Given the description of an element on the screen output the (x, y) to click on. 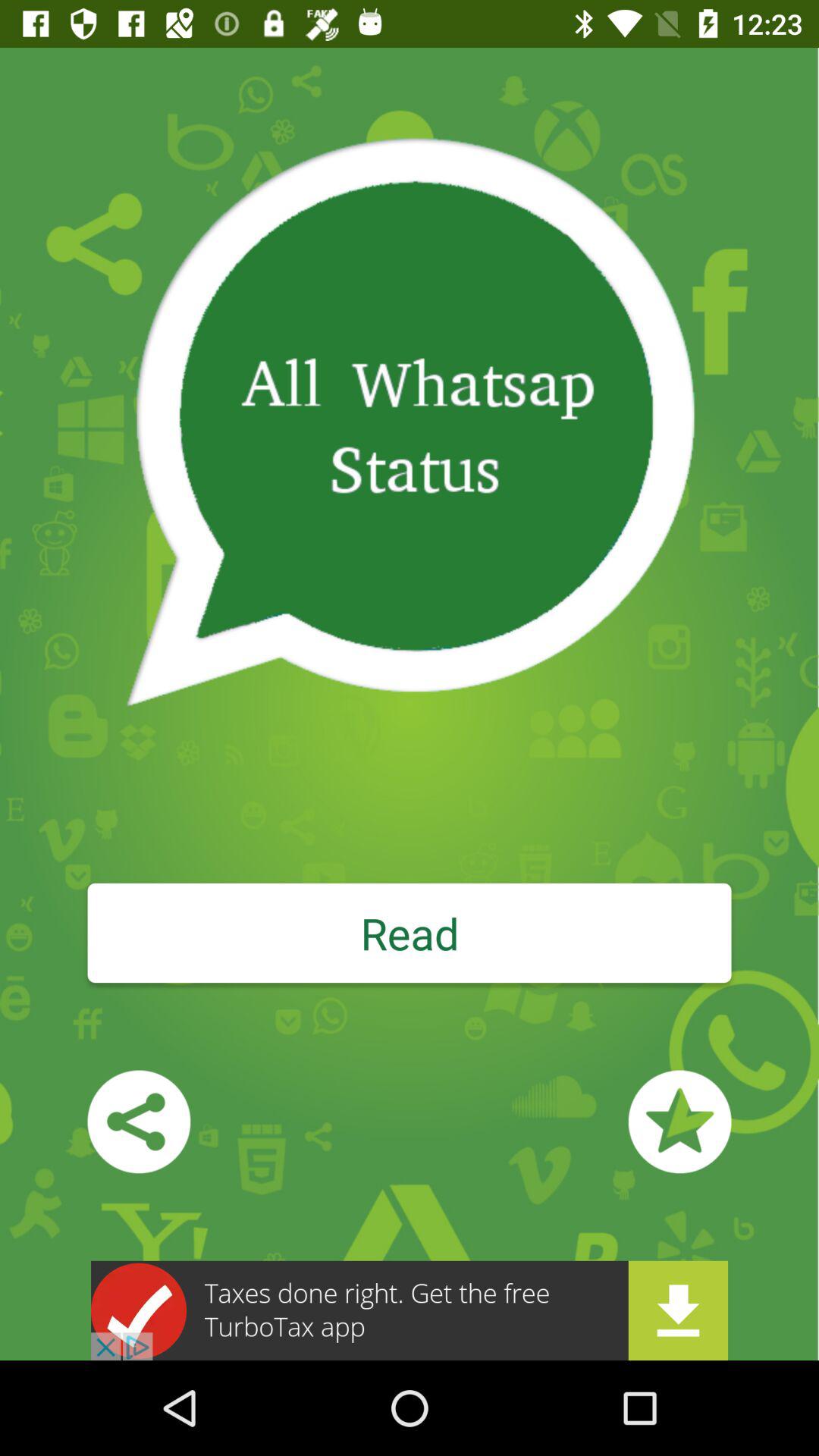
favorite (679, 1121)
